Given the description of an element on the screen output the (x, y) to click on. 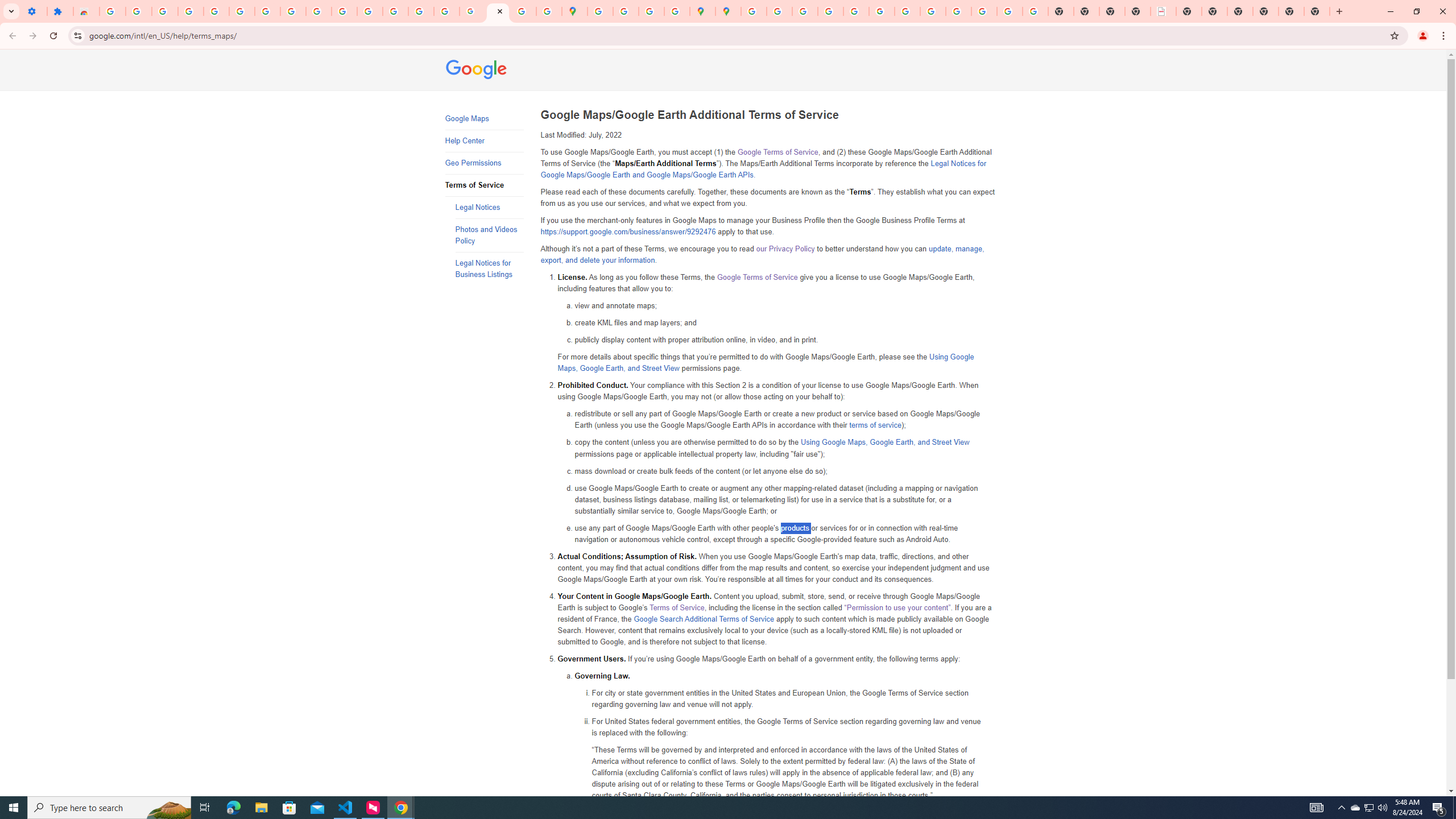
LAAD Defence & Security 2025 | BAE Systems (1162, 11)
Safety in Our Products - Google Safety Center (676, 11)
Geo Permissions (484, 162)
Sign in - Google Accounts (112, 11)
